Given the description of an element on the screen output the (x, y) to click on. 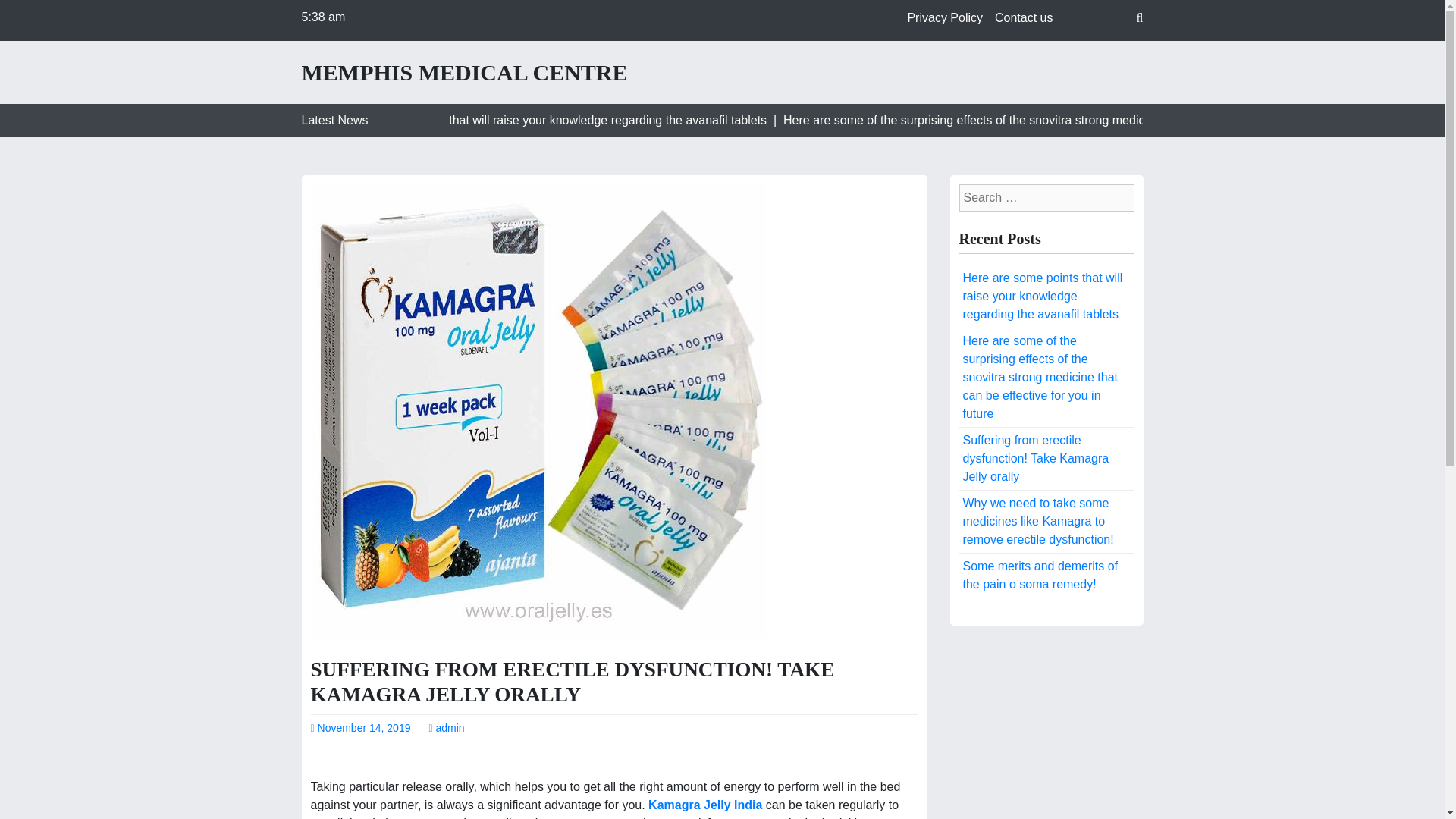
admin (449, 727)
Search (24, 13)
MEMPHIS MEDICAL CENTRE (464, 72)
Privacy Policy (944, 18)
Kamagra Jelly India (706, 804)
November 14, 2019 (363, 727)
Some merits and demerits of the pain o soma remedy! (1046, 575)
Contact us (1023, 18)
Search (107, 13)
